Given the description of an element on the screen output the (x, y) to click on. 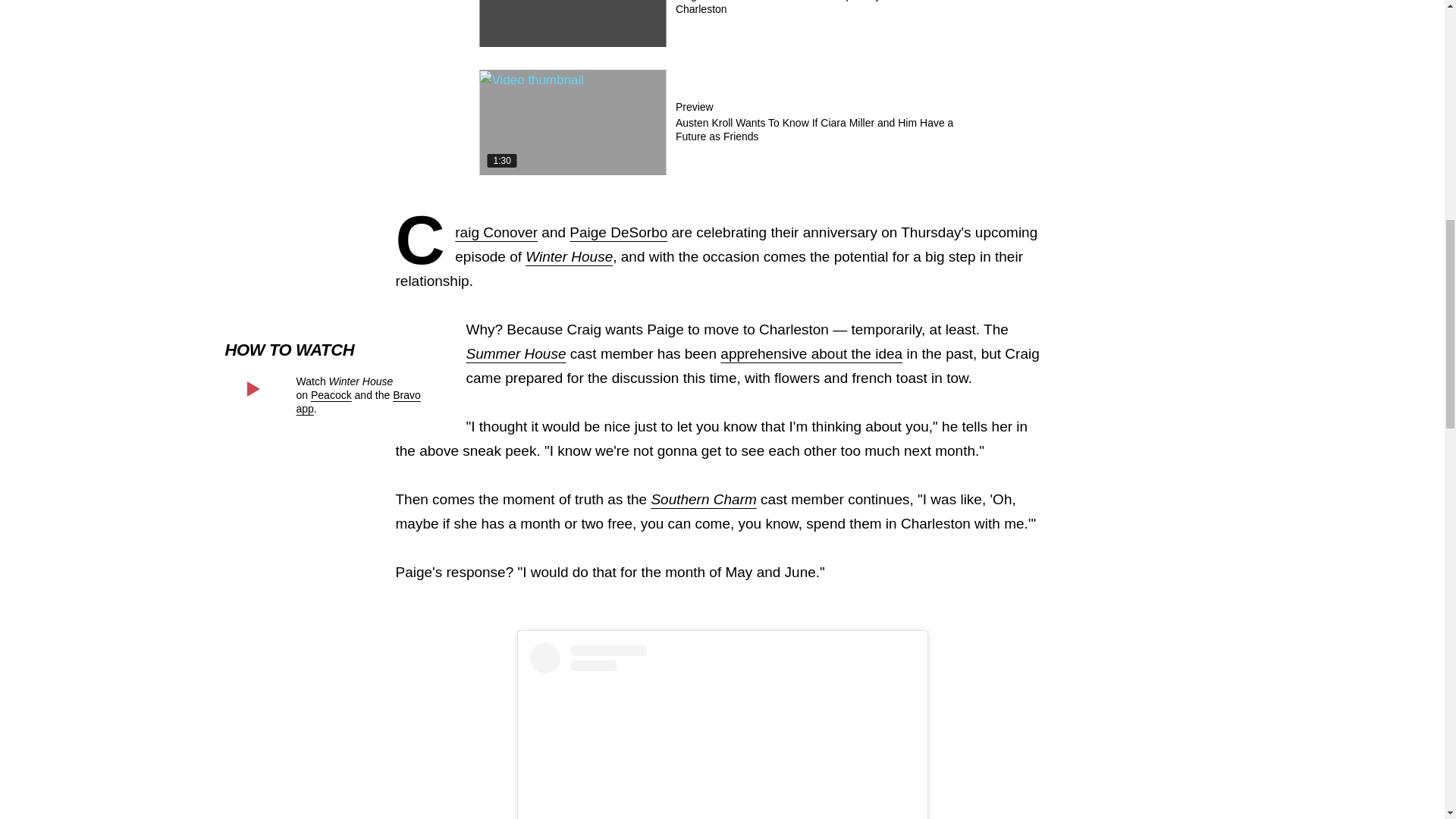
VIEW THIS POST ON INSTAGRAM (721, 730)
apprehensive about the idea (811, 353)
Winter House (568, 256)
Southern Charm (702, 498)
Bravo app (357, 401)
Southern Charm (702, 498)
Paige DeSorbo (617, 232)
Summer House (515, 353)
